Given the description of an element on the screen output the (x, y) to click on. 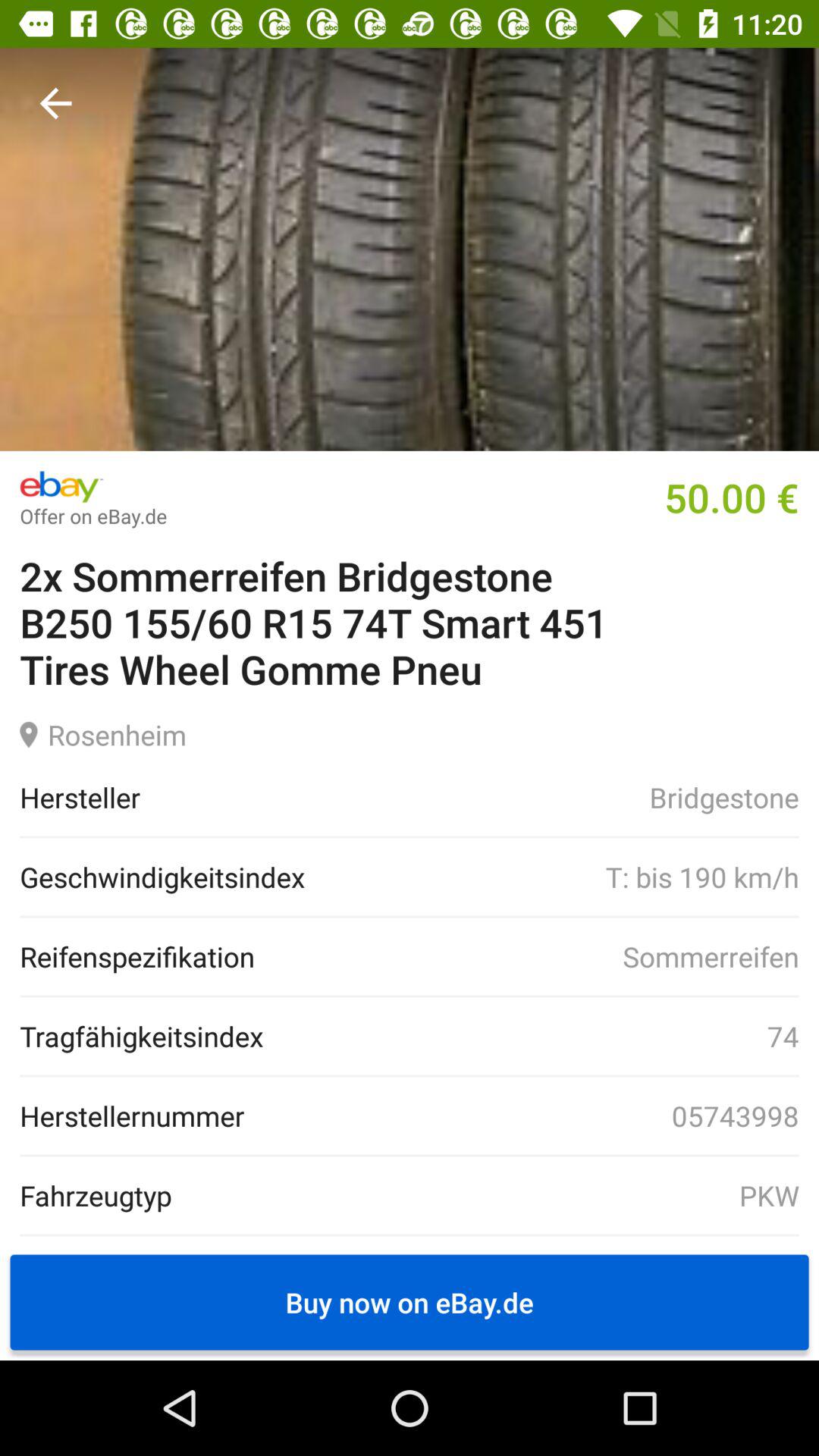
swipe until pkw item (485, 1195)
